Given the description of an element on the screen output the (x, y) to click on. 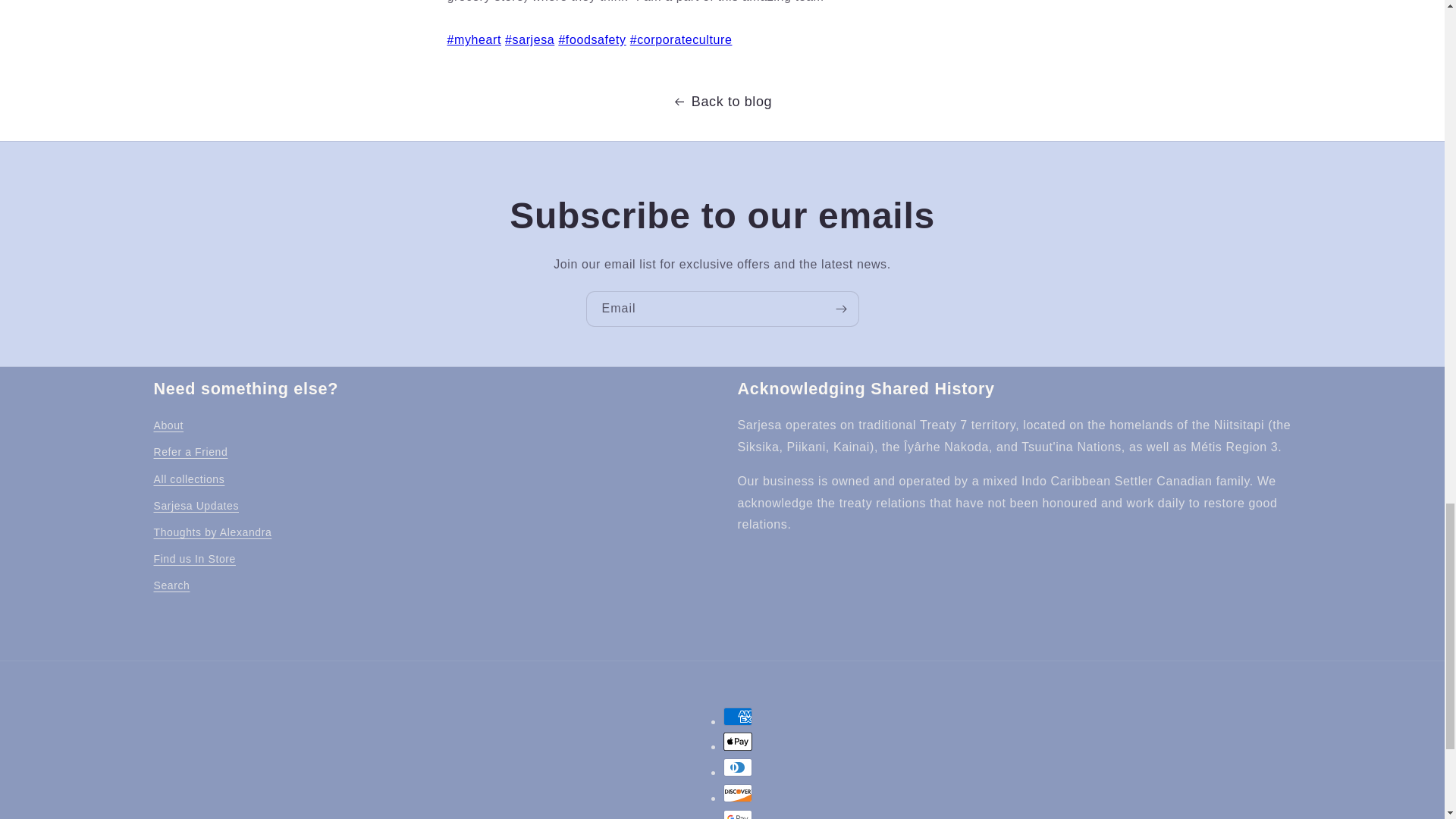
American Express (737, 716)
Google Pay (737, 814)
Discover (737, 792)
Diners Club (737, 767)
Apple Pay (737, 741)
